Given the description of an element on the screen output the (x, y) to click on. 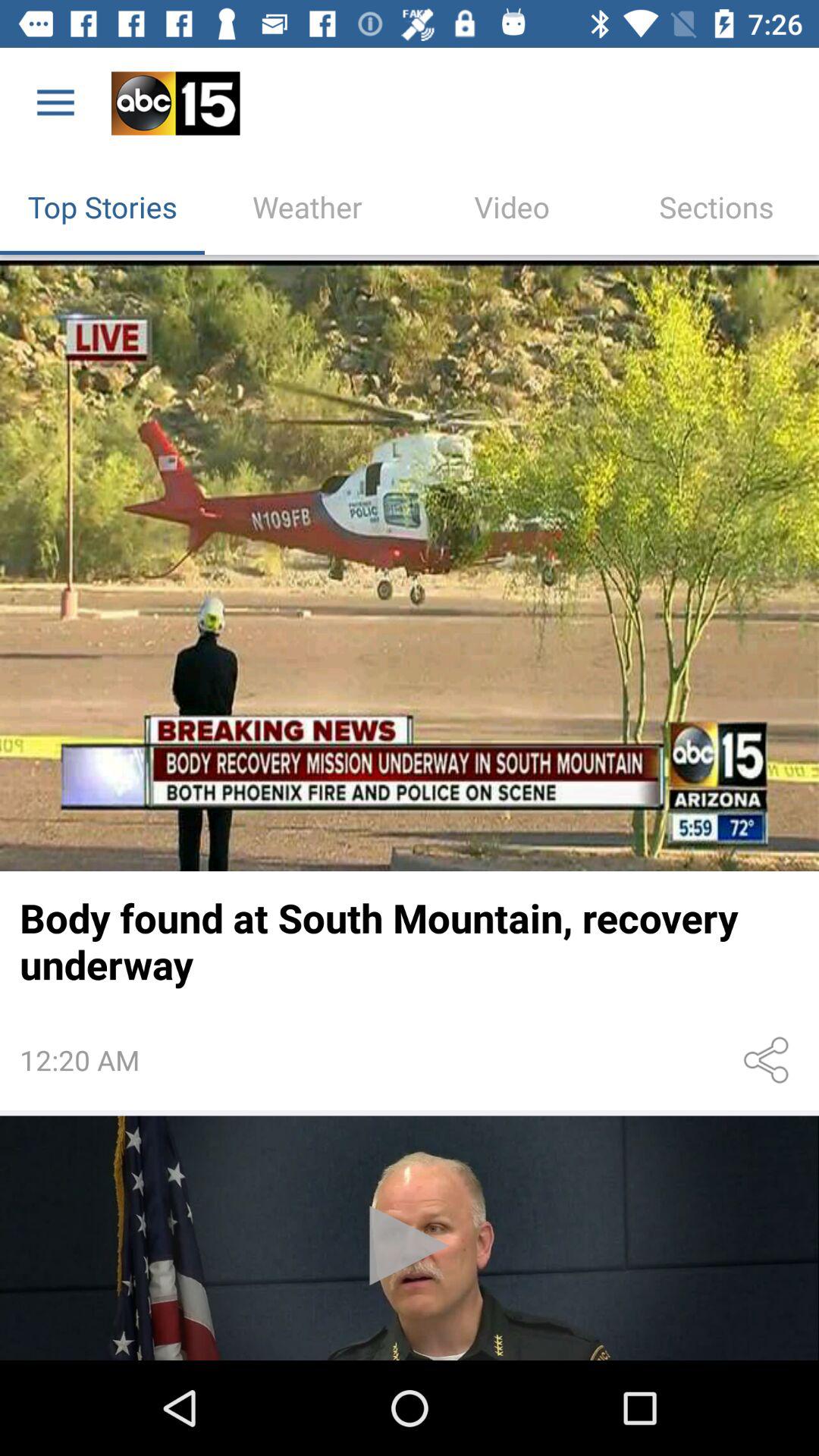
go to article (409, 565)
